Given the description of an element on the screen output the (x, y) to click on. 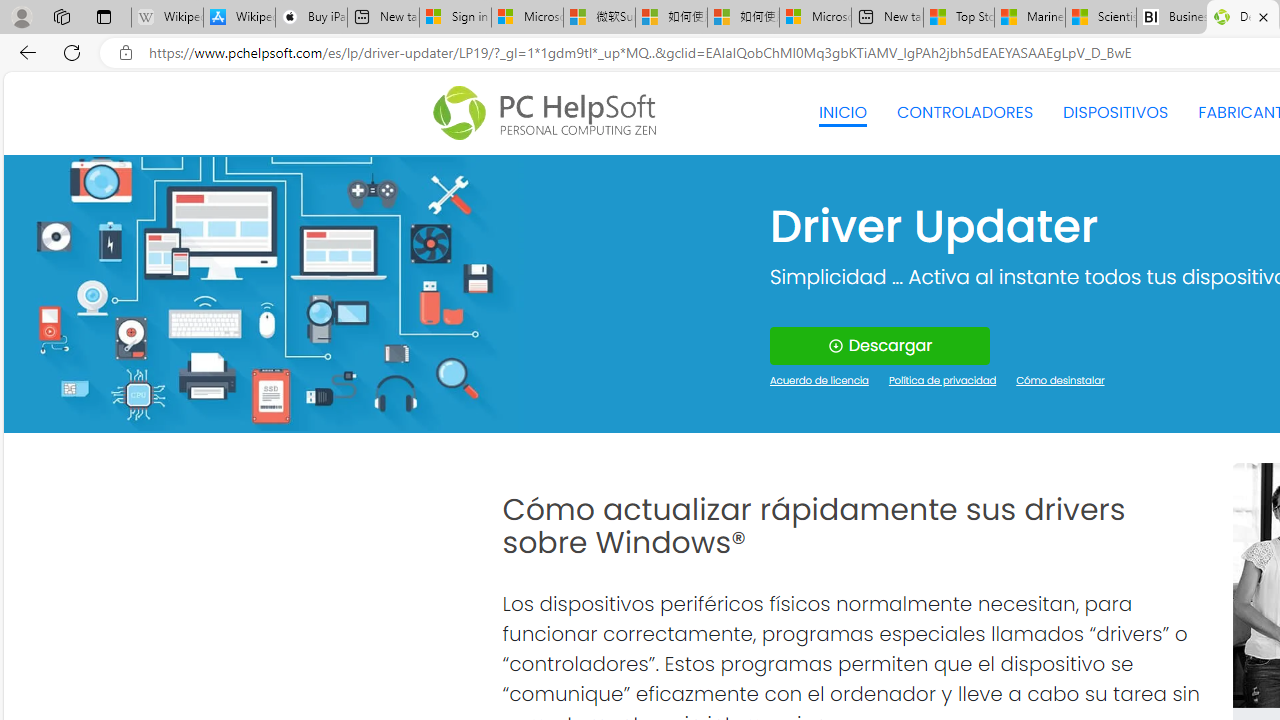
Acuerdo de licencia (819, 381)
CONTROLADORES (965, 112)
Top Stories - MSN (959, 17)
INICIO (842, 112)
Generic (263, 293)
Buy iPad - Apple (311, 17)
INICIO (842, 112)
DISPOSITIVOS (1115, 112)
CONTROLADORES (965, 112)
Sign in to your Microsoft account (455, 17)
